Given the description of an element on the screen output the (x, y) to click on. 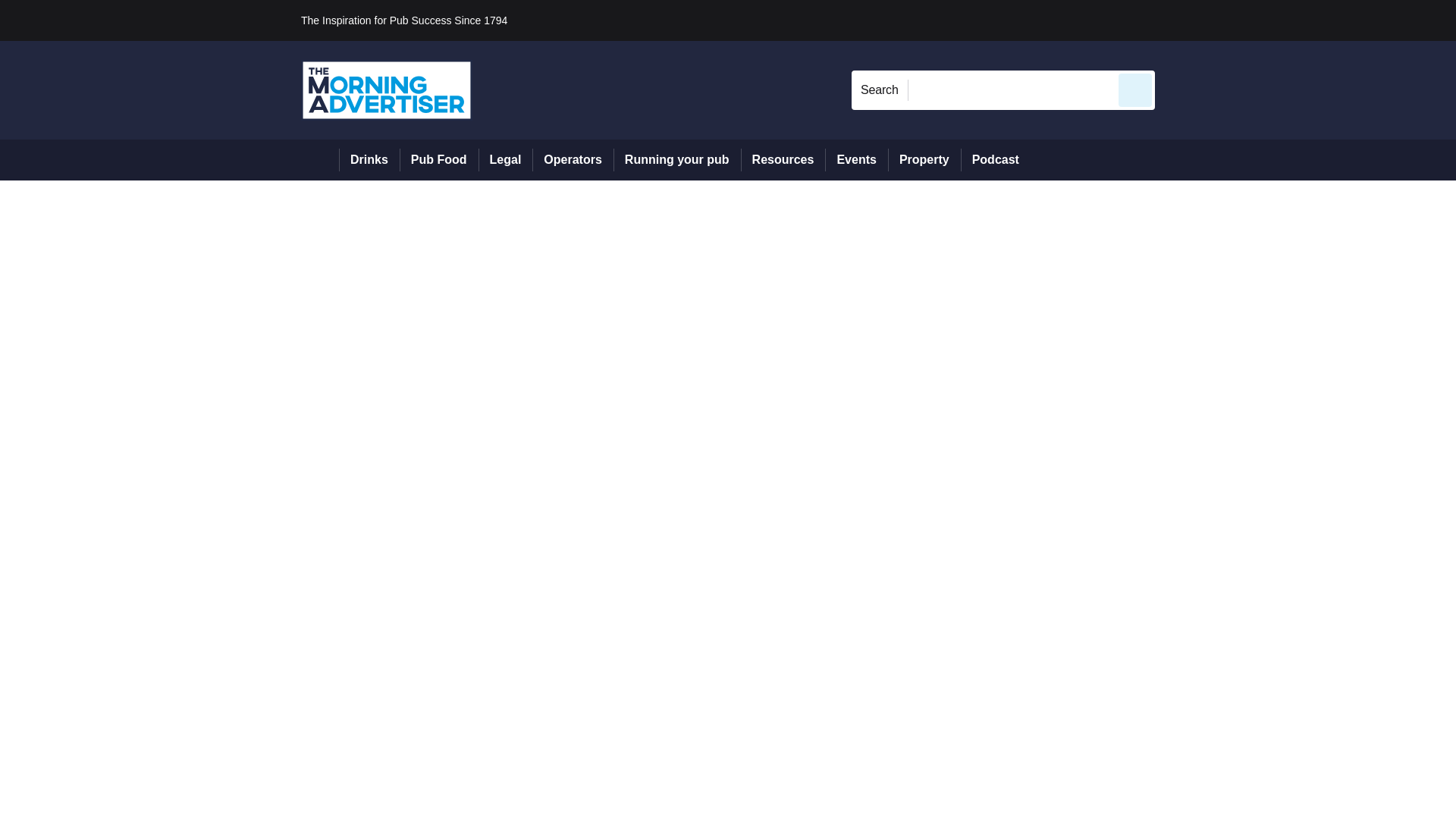
Send (1134, 89)
Send (1134, 90)
My account (1261, 20)
Pub Food (438, 159)
The Morning Advertiser (386, 89)
Home (320, 159)
Drinks (368, 159)
Legal (505, 159)
Sign out (1179, 20)
REGISTER (1257, 20)
